Given the description of an element on the screen output the (x, y) to click on. 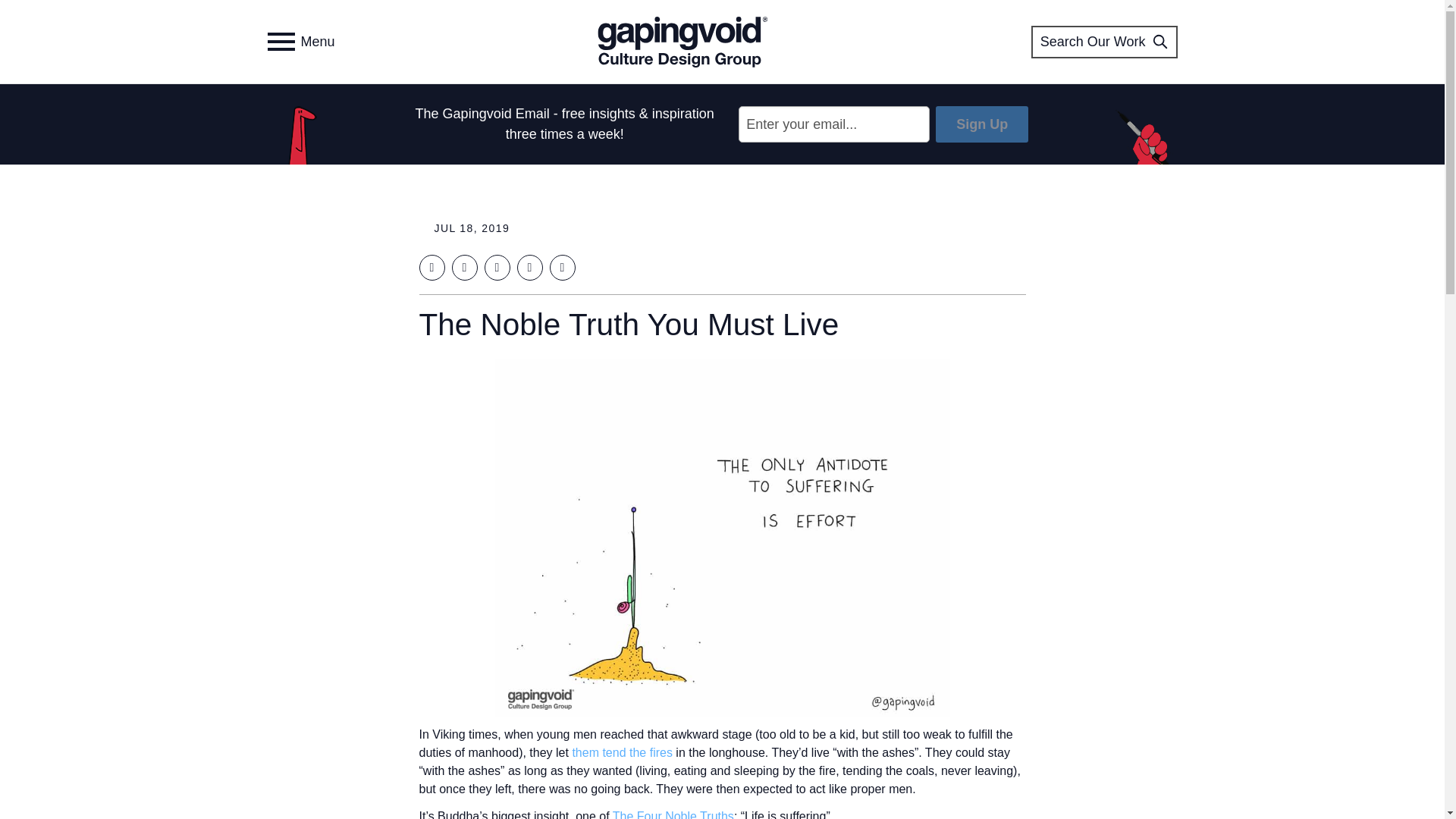
Email this  (561, 267)
Add this to LinkedIn (496, 267)
Share this on Facebook (431, 267)
Tweet this ! (464, 267)
Submit this to Pinterest (529, 267)
Sign Up (981, 124)
 The Four Noble Truths (671, 814)
Sign Up (981, 124)
them tend the fires (622, 752)
Enter your email... (834, 124)
